Given the description of an element on the screen output the (x, y) to click on. 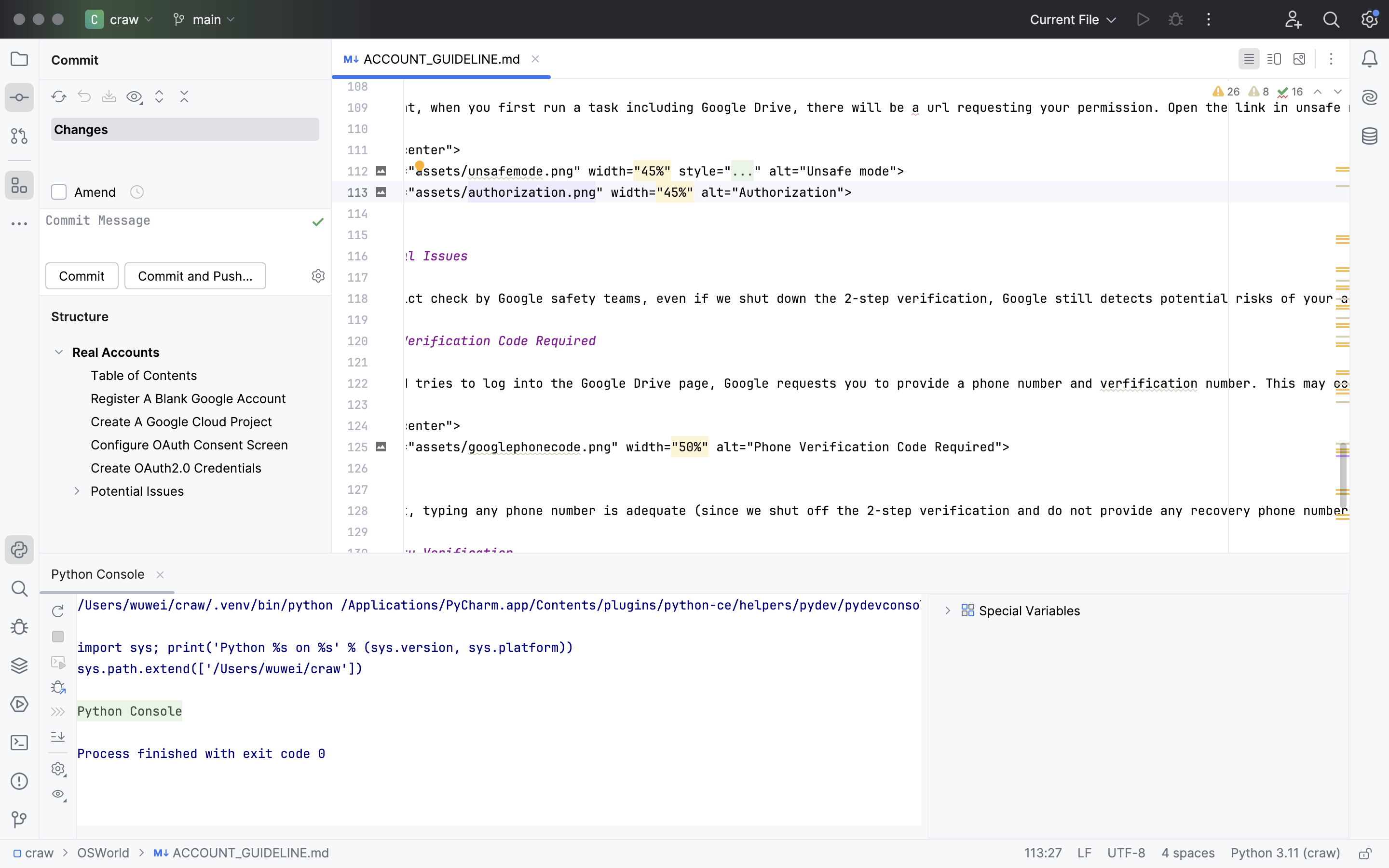
LF Element type: AXStaticText (1084, 854)
